Given the description of an element on the screen output the (x, y) to click on. 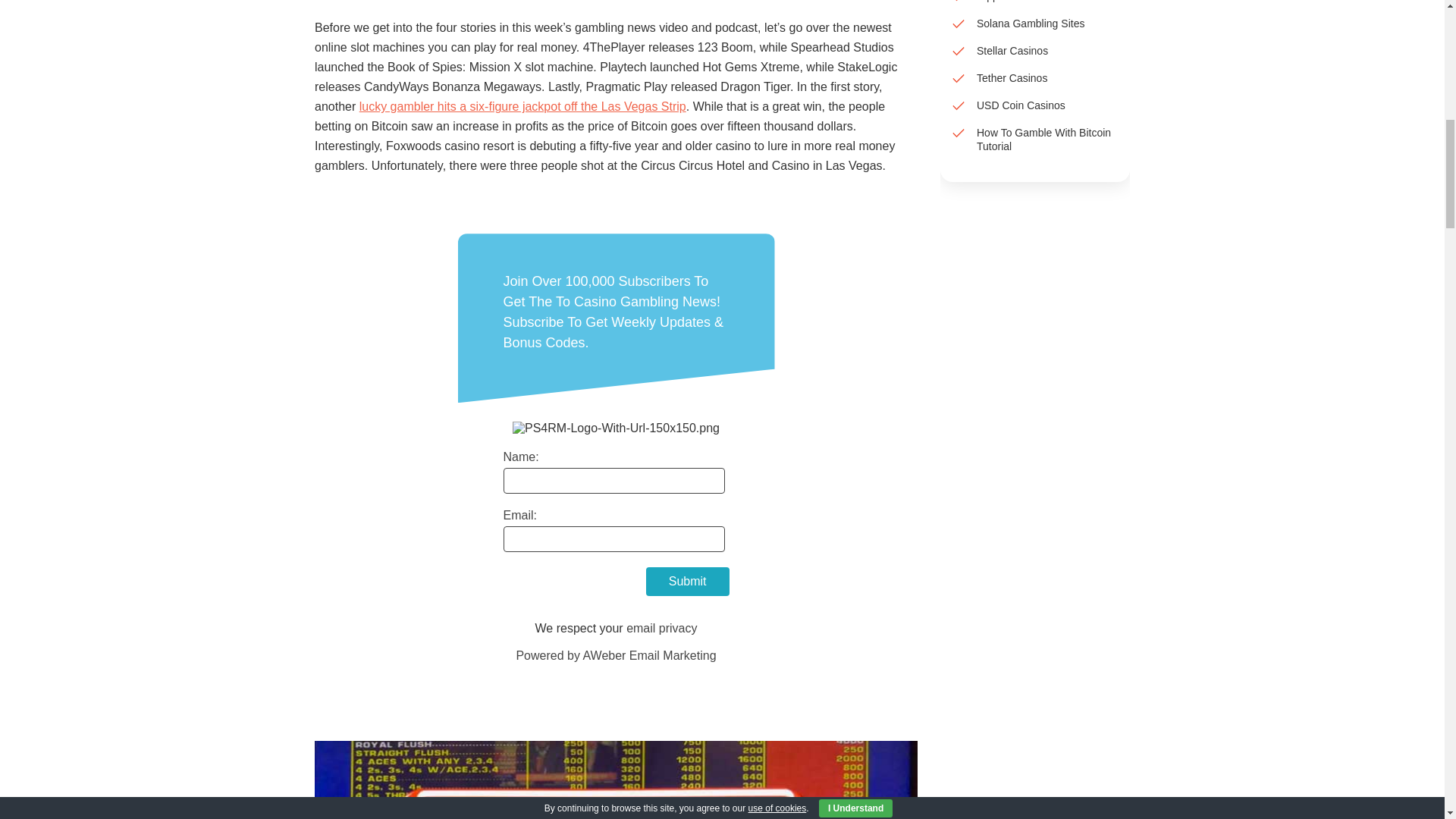
AWeber Email Marketing (615, 655)
Privacy Policy (661, 627)
Submit (687, 581)
